Given the description of an element on the screen output the (x, y) to click on. 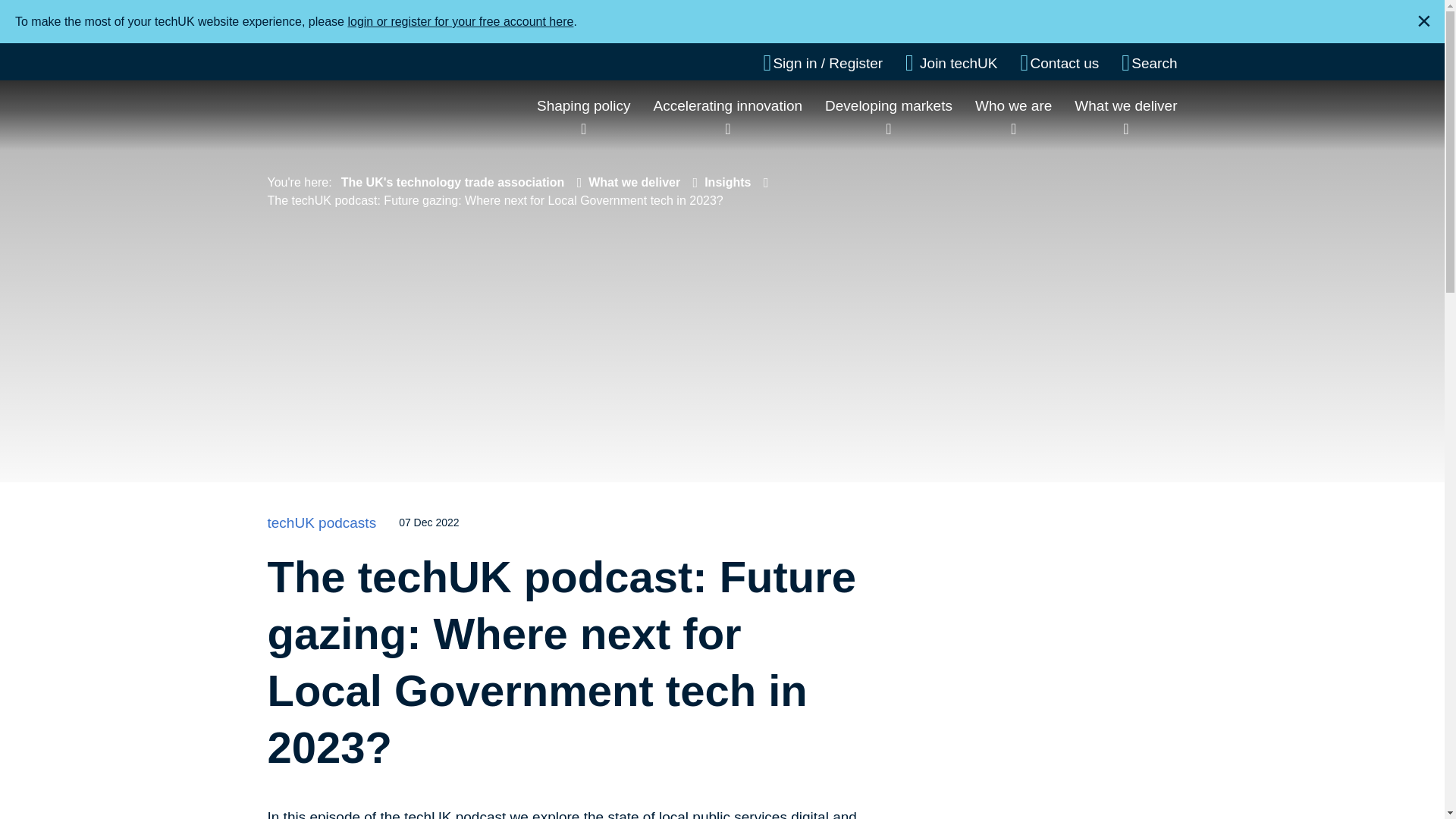
Accelerating innovation (727, 105)
Contact us (1059, 62)
Search (1148, 62)
Join techUK (951, 62)
Shaping policy (583, 105)
login or register for your free account here (460, 21)
